Given the description of an element on the screen output the (x, y) to click on. 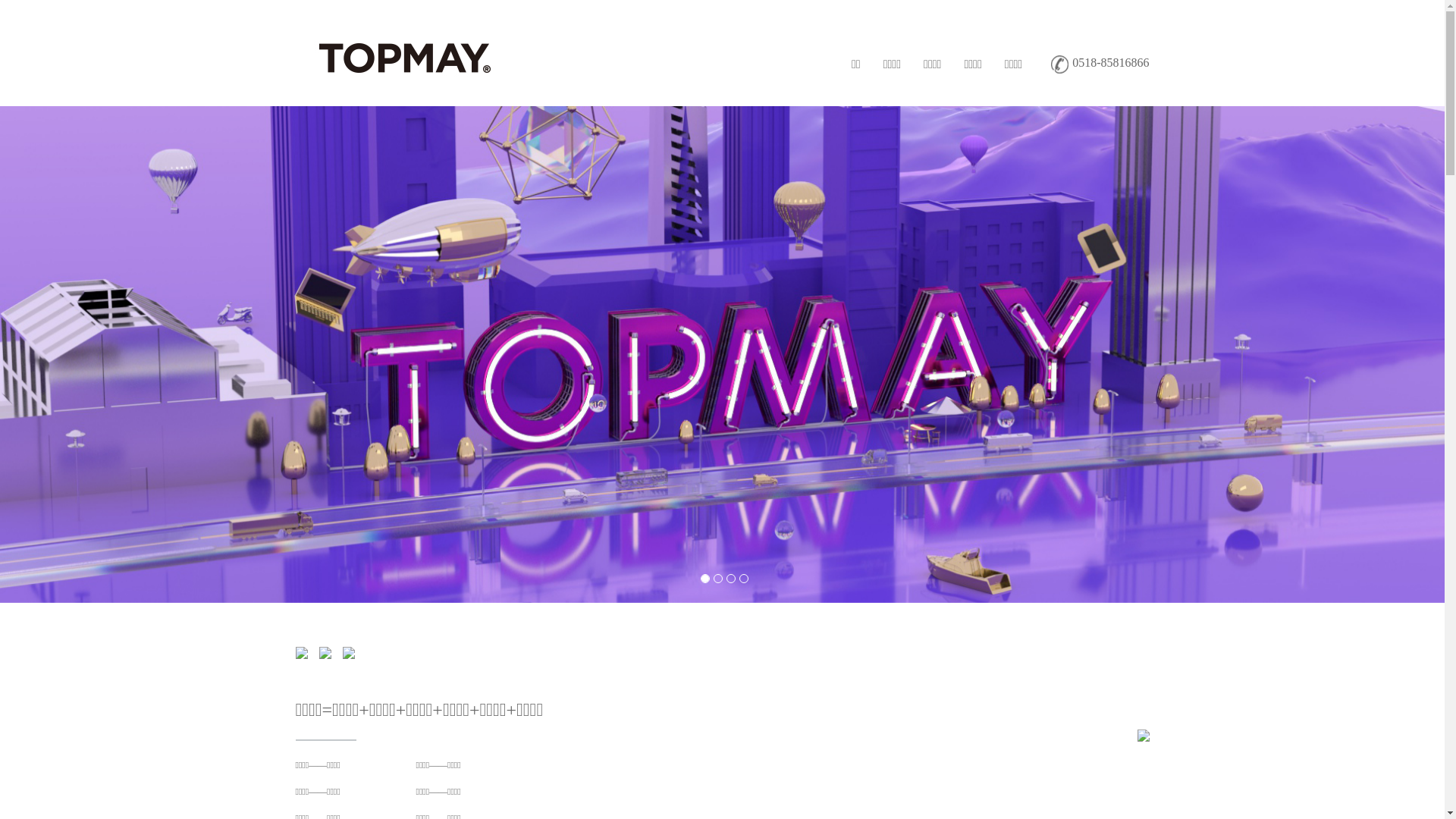
4 Element type: text (743, 578)
3 Element type: text (730, 578)
2 Element type: text (717, 578)
1 Element type: text (704, 578)
